Given the description of an element on the screen output the (x, y) to click on. 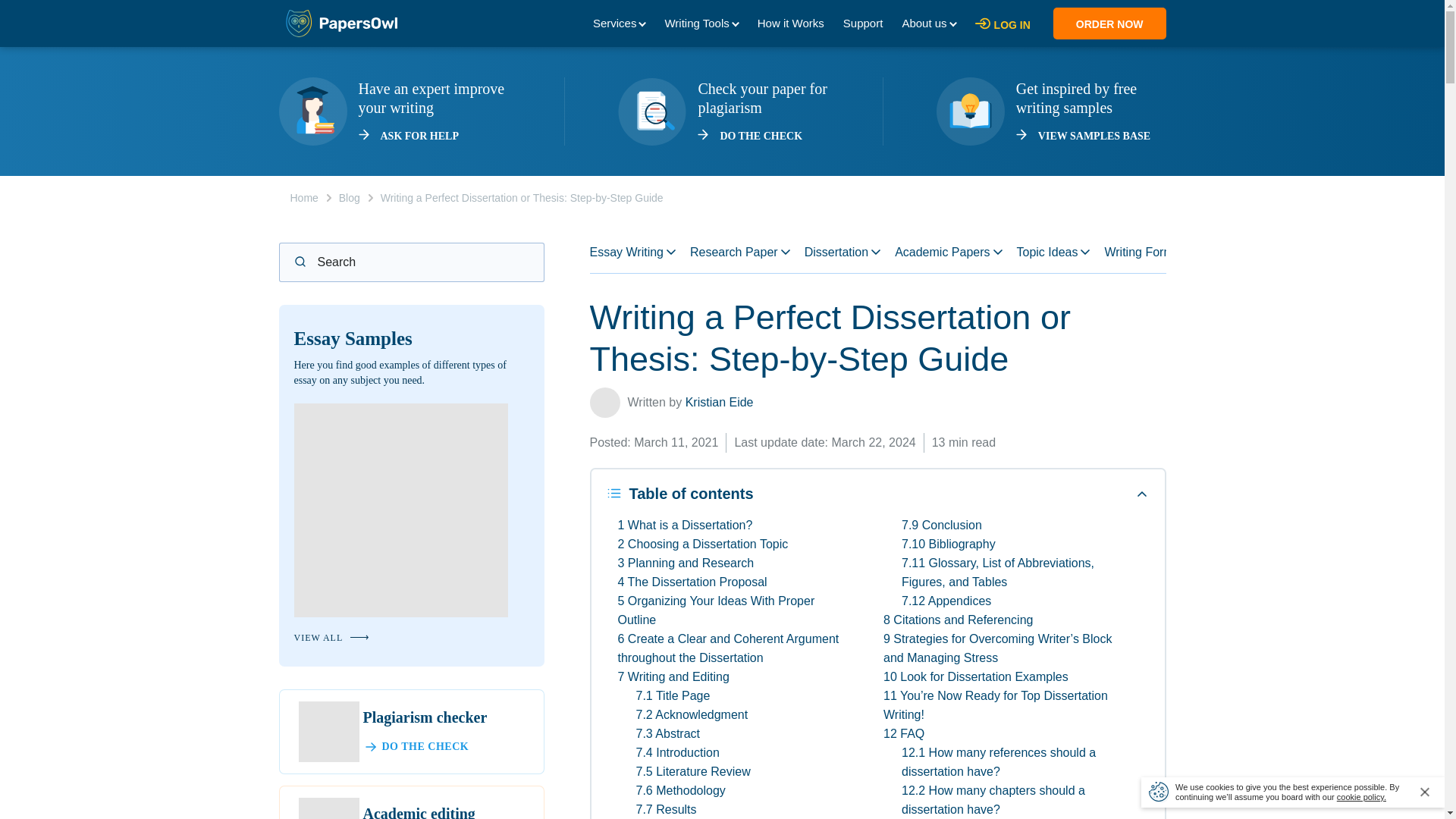
About us (928, 22)
Services (619, 22)
ORDER NOW (1109, 23)
LOG IN (1002, 23)
How it Works (790, 22)
Support (863, 22)
Writing Tools (700, 22)
